Given the description of an element on the screen output the (x, y) to click on. 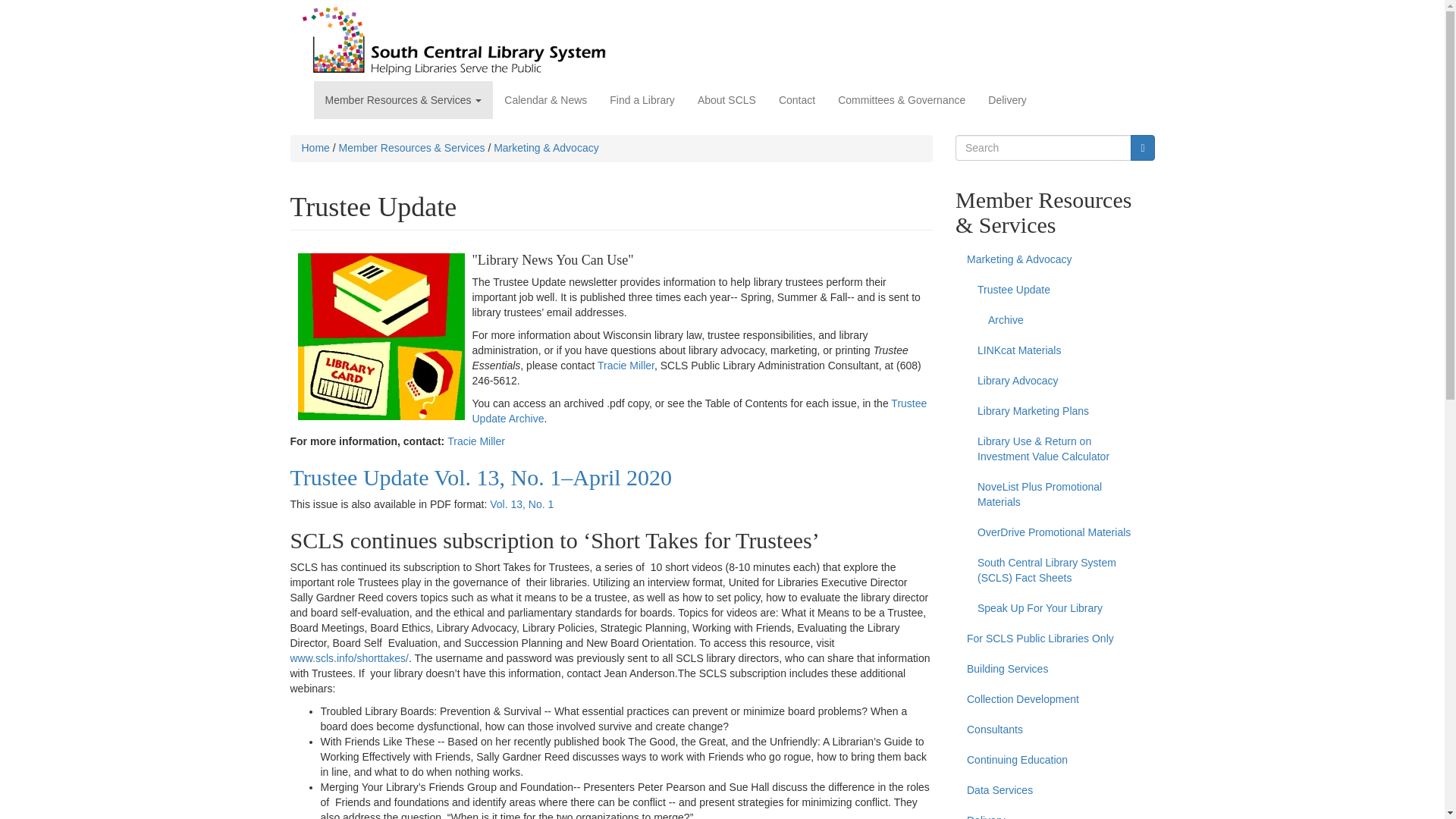
About SCLS (726, 99)
Delivery (1007, 99)
Find a Library (641, 99)
Tracie Miller (475, 440)
Home (315, 147)
Trustee Update Archive (698, 411)
Contact (797, 99)
Vol. 13, No. 1 (521, 503)
Enter the terms you wish to search for. (1043, 147)
Tracie Miller (624, 365)
Home (453, 40)
